Given the description of an element on the screen output the (x, y) to click on. 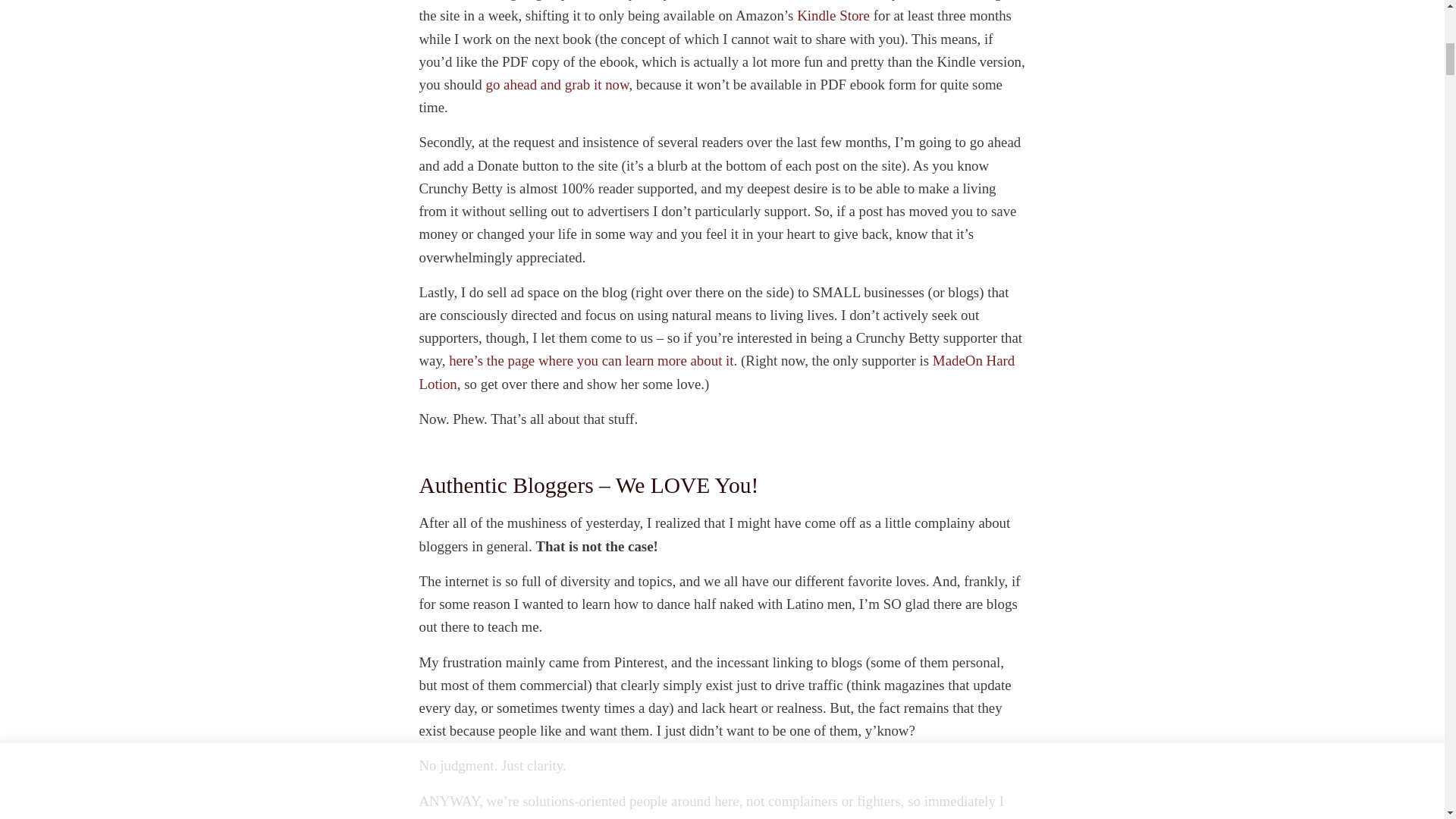
Kindle Store (832, 15)
go ahead and grab it now (557, 84)
Made On (716, 371)
MadeOn Hard Lotion (716, 371)
Crunchy Betty Advertising Options (590, 360)
Crunchy Betty on Amazon (832, 15)
Buy the Book (557, 84)
